Given the description of an element on the screen output the (x, y) to click on. 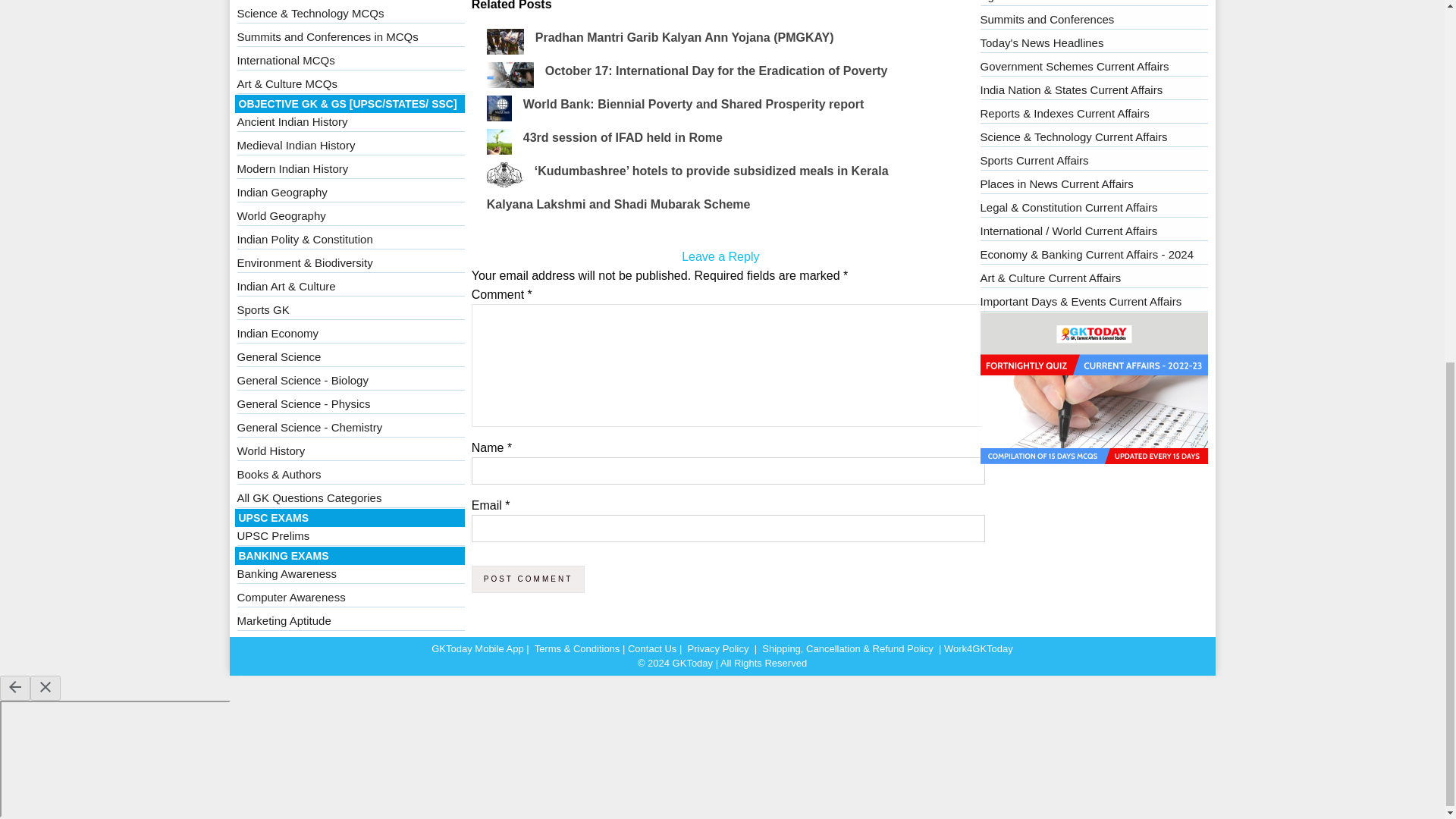
Post Comment (528, 578)
October 17: International Day for the Eradication of Poverty (716, 70)
World Bank: Biennial Poverty and Shared Prosperity report (693, 103)
October 17: International Day for the Eradication of Poverty (716, 70)
43rd session of IFAD held in Rome (622, 137)
43rd session of IFAD held in Rome (622, 137)
World Bank: Biennial Poverty and Shared Prosperity report (693, 103)
Post Comment (528, 578)
Kalyana Lakshmi and Shadi Mubarak Scheme (618, 204)
Kalyana Lakshmi and Shadi Mubarak Scheme (618, 204)
